Given the description of an element on the screen output the (x, y) to click on. 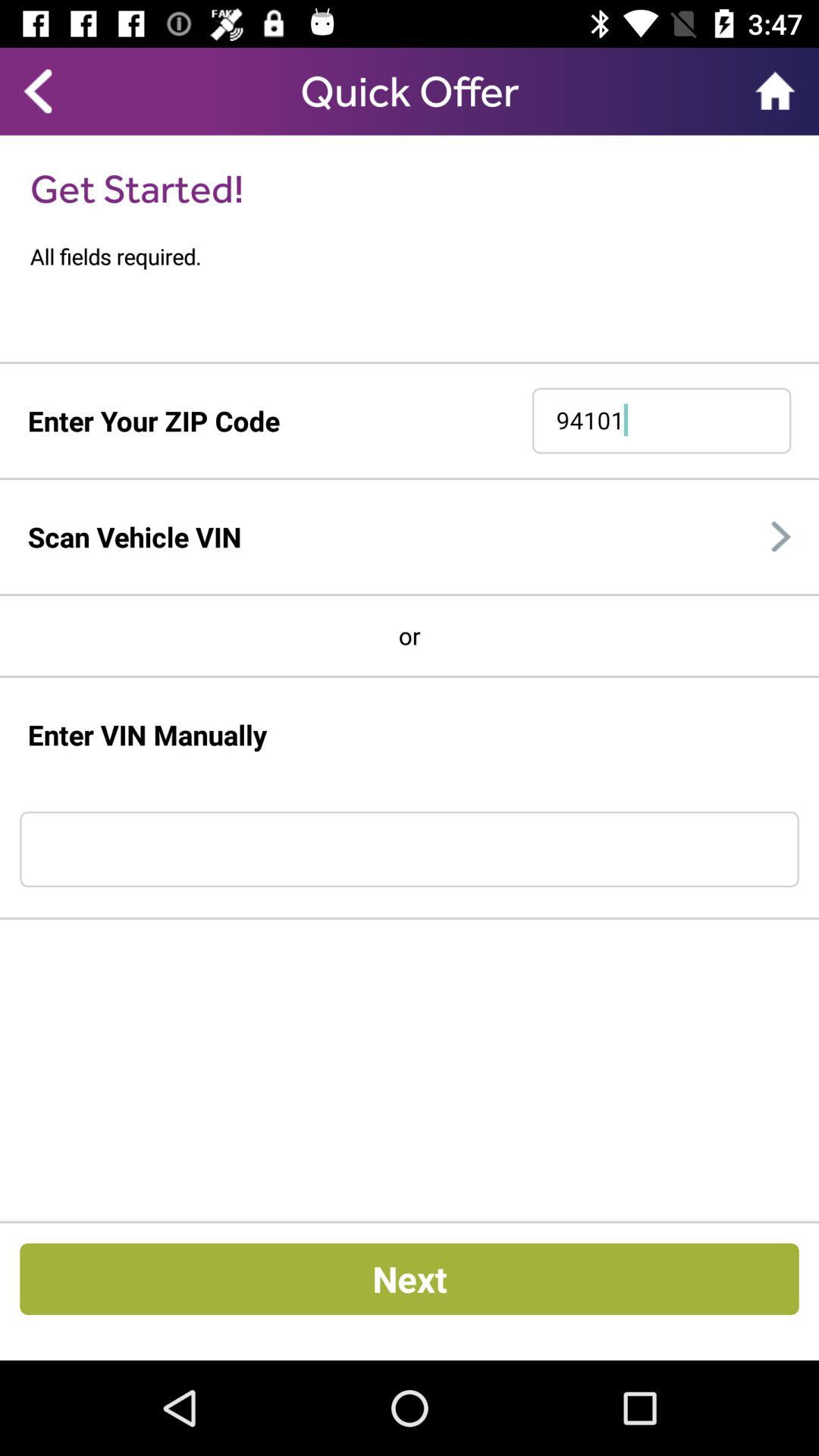
launch the item below get started! (424, 256)
